Given the description of an element on the screen output the (x, y) to click on. 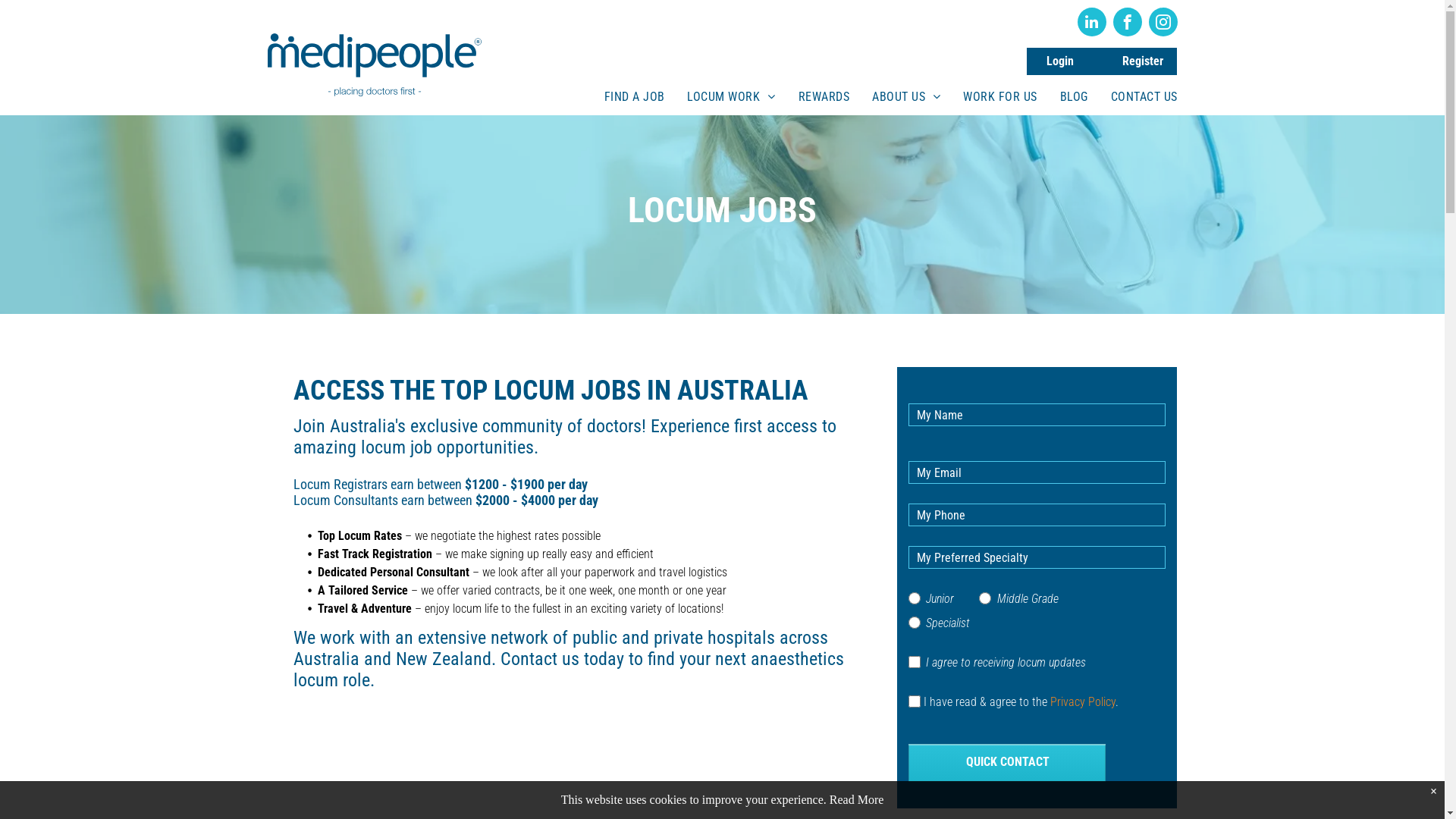
QUICK CONTACT Element type: text (1007, 761)
WORK FOR US Element type: text (999, 96)
BLOG Element type: text (1074, 96)
FIND A JOB Element type: text (634, 96)
REWARDS Element type: text (823, 96)
Read More Element type: text (856, 799)
CONTACT US Element type: text (1143, 96)
Privacy Policy Element type: text (1082, 701)
Register Element type: text (1143, 61)
LOCUM WORK Element type: text (731, 96)
Login Element type: text (1059, 61)
ABOUT US Element type: text (906, 96)
